Given the description of an element on the screen output the (x, y) to click on. 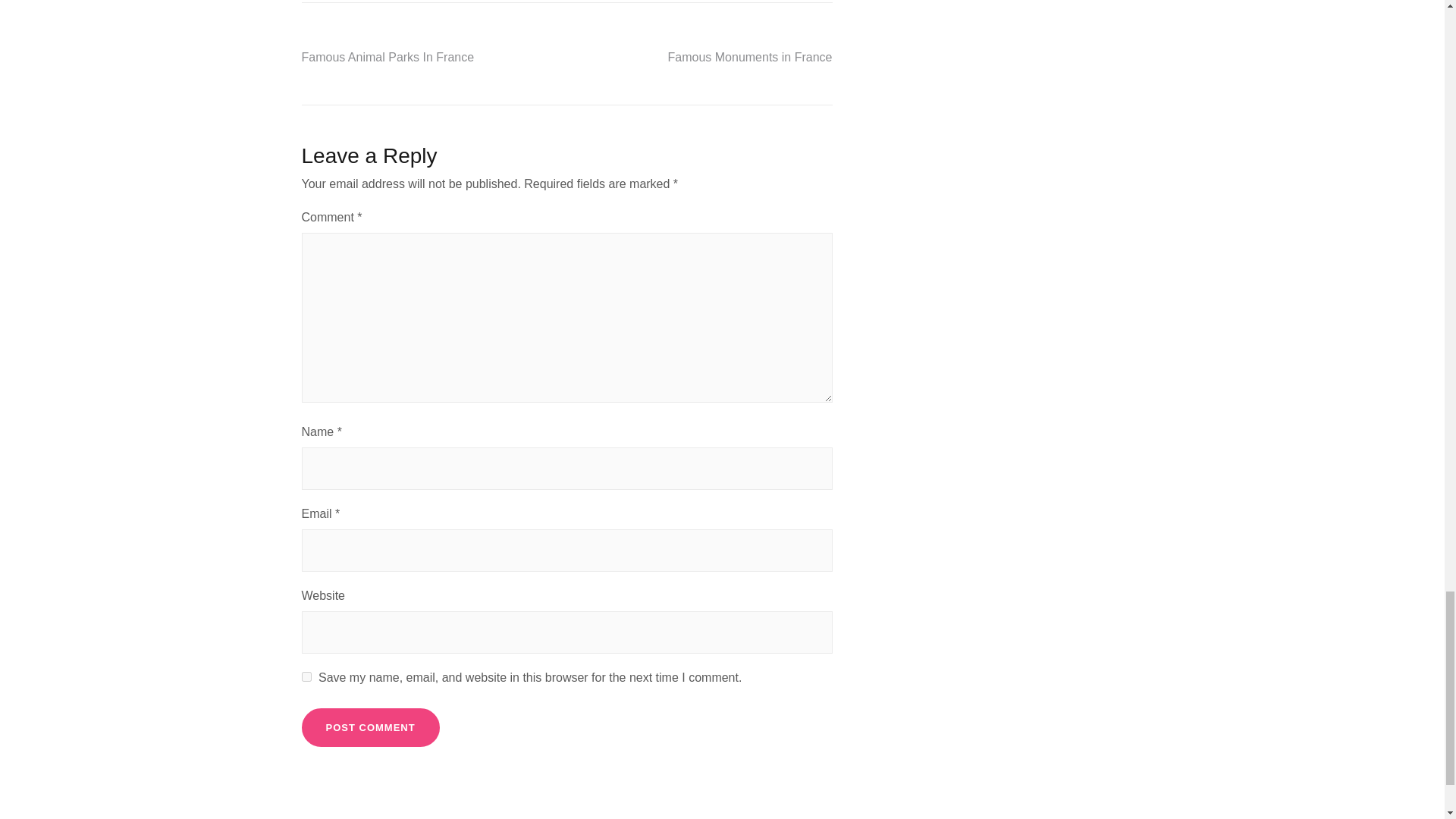
Famous Monuments in France (750, 56)
Famous Animal Parks In France (387, 56)
yes (306, 676)
Post Comment (370, 727)
Post Comment (370, 727)
